Given the description of an element on the screen output the (x, y) to click on. 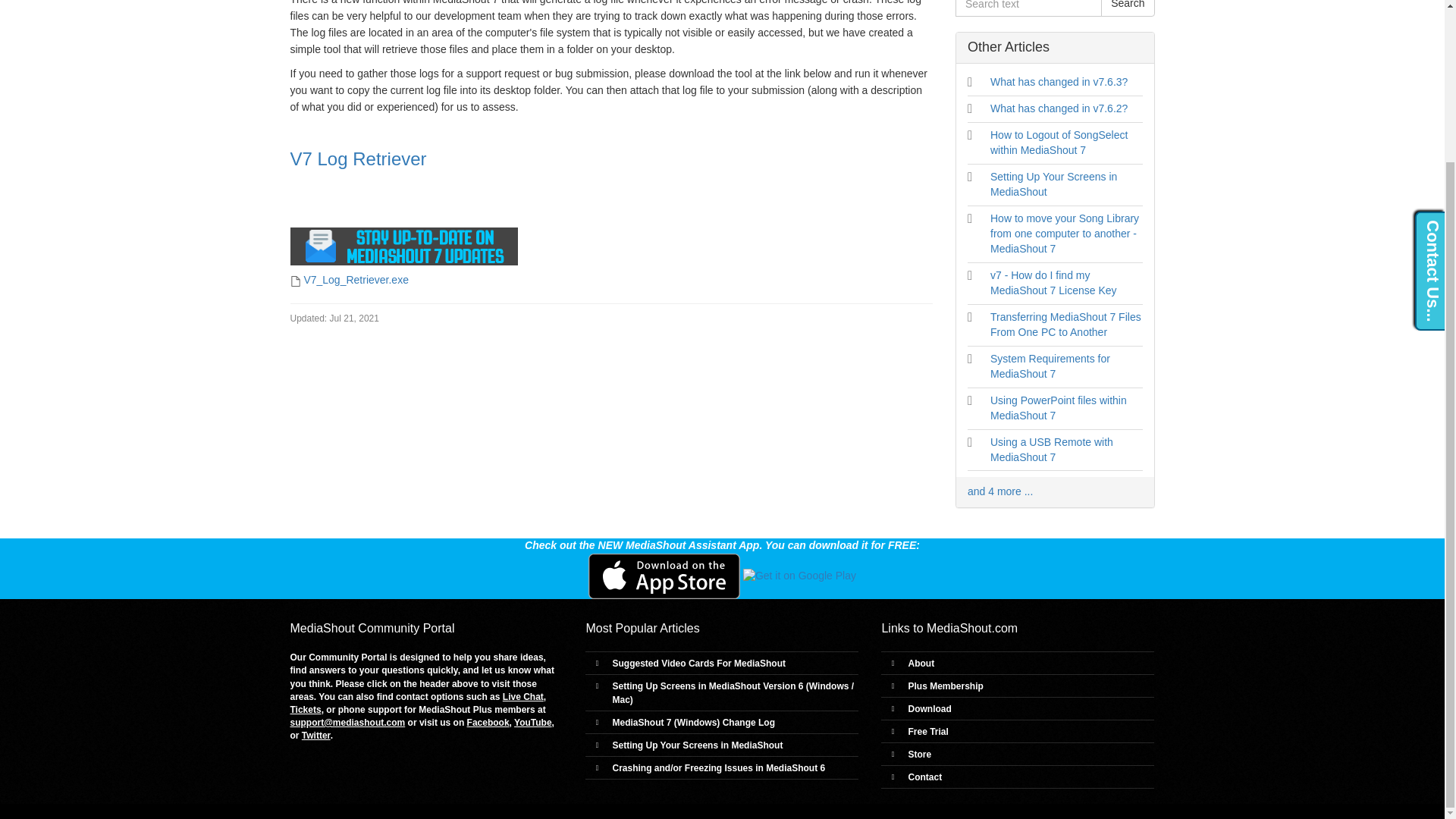
How to Logout of SongSelect within MediaShout 7 (1058, 142)
Using a USB Remote with MediaShout 7 (1051, 449)
How to Logout of SongSelect within MediaShout 7 (1058, 142)
Jul 21, 2021, 10:52 AM (333, 318)
System Requirements for MediaShout 7 (1049, 366)
Twitter (315, 735)
V7 Log Retriever (357, 158)
Suggested Video Cards For MediaShout (697, 663)
Suggested Video Cards For MediaShout (697, 663)
Transferring MediaShout 7 Files From One PC to Another (1065, 324)
Search text (1028, 8)
System Requirements for MediaShout 7 (1049, 366)
Setting Up Your Screens in MediaShout (1053, 184)
Using a USB Remote with MediaShout 7 (1051, 449)
